Given the description of an element on the screen output the (x, y) to click on. 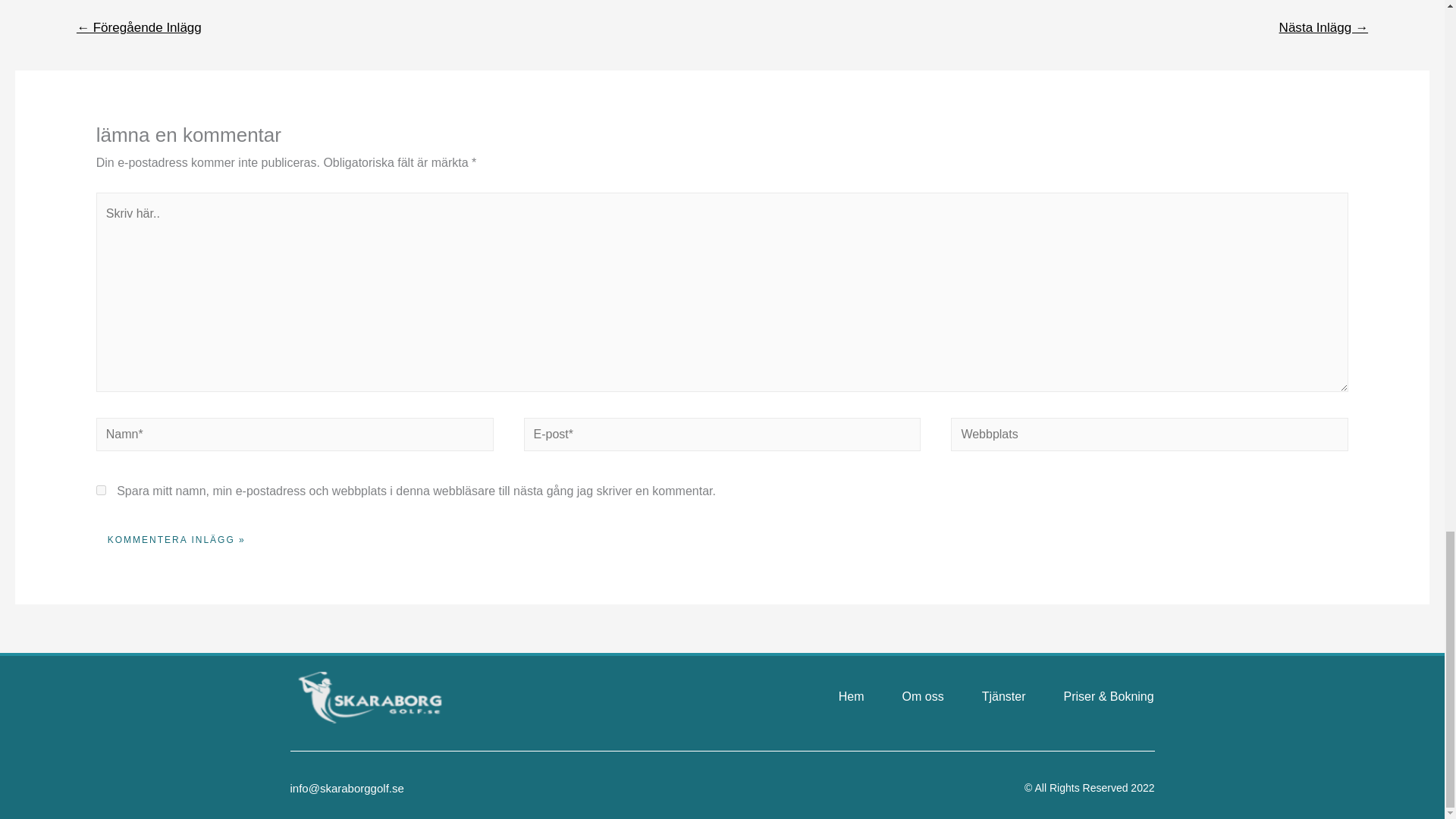
Om oss (922, 696)
yes (101, 490)
Hem (851, 696)
